Given the description of an element on the screen output the (x, y) to click on. 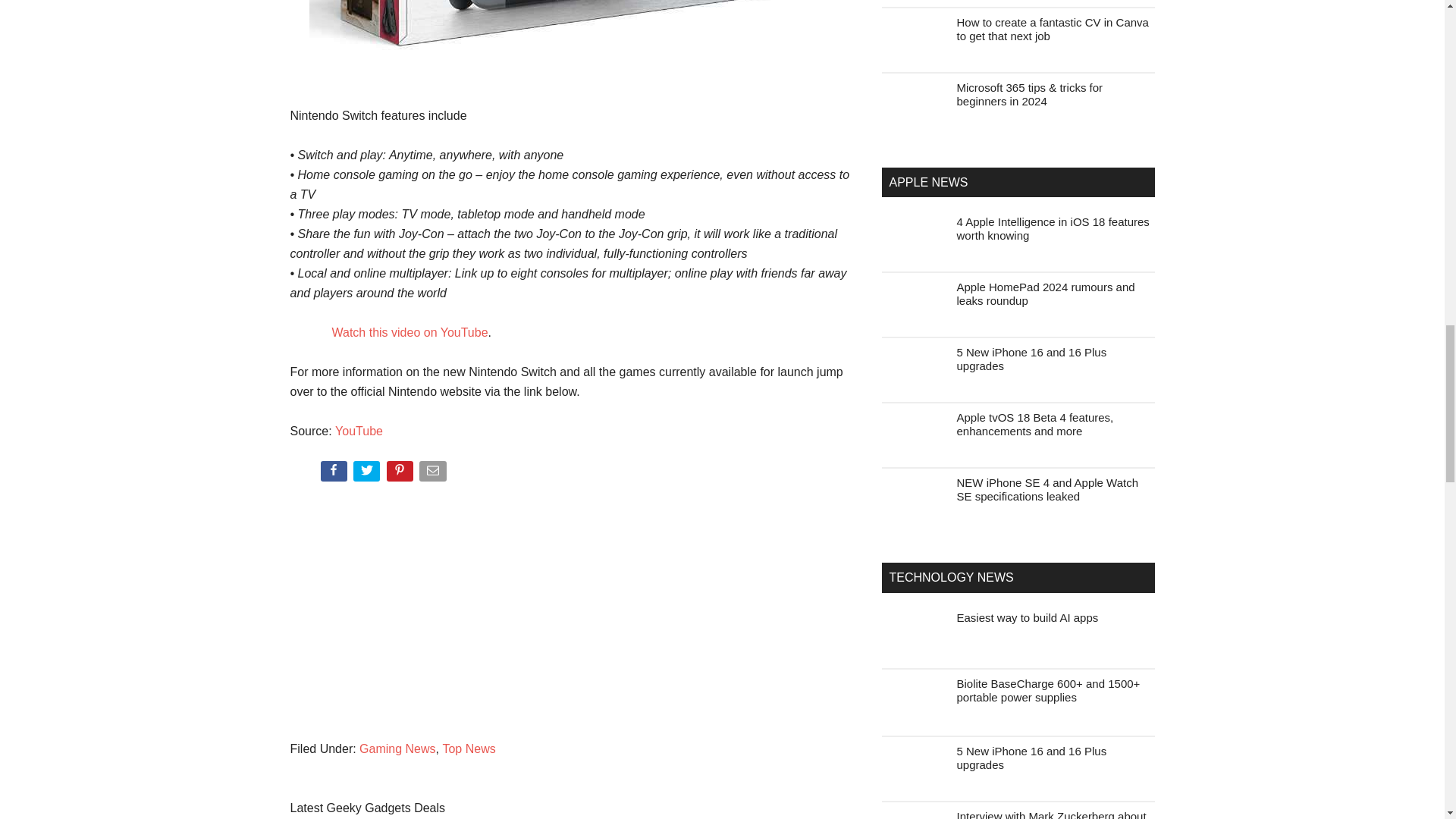
Tweet (367, 474)
Watch this video on YouTube (409, 332)
Gaming News (397, 748)
YouTube (358, 431)
Pin (401, 474)
Share on Facebook (334, 474)
Top News (468, 748)
Email (433, 474)
